Given the description of an element on the screen output the (x, y) to click on. 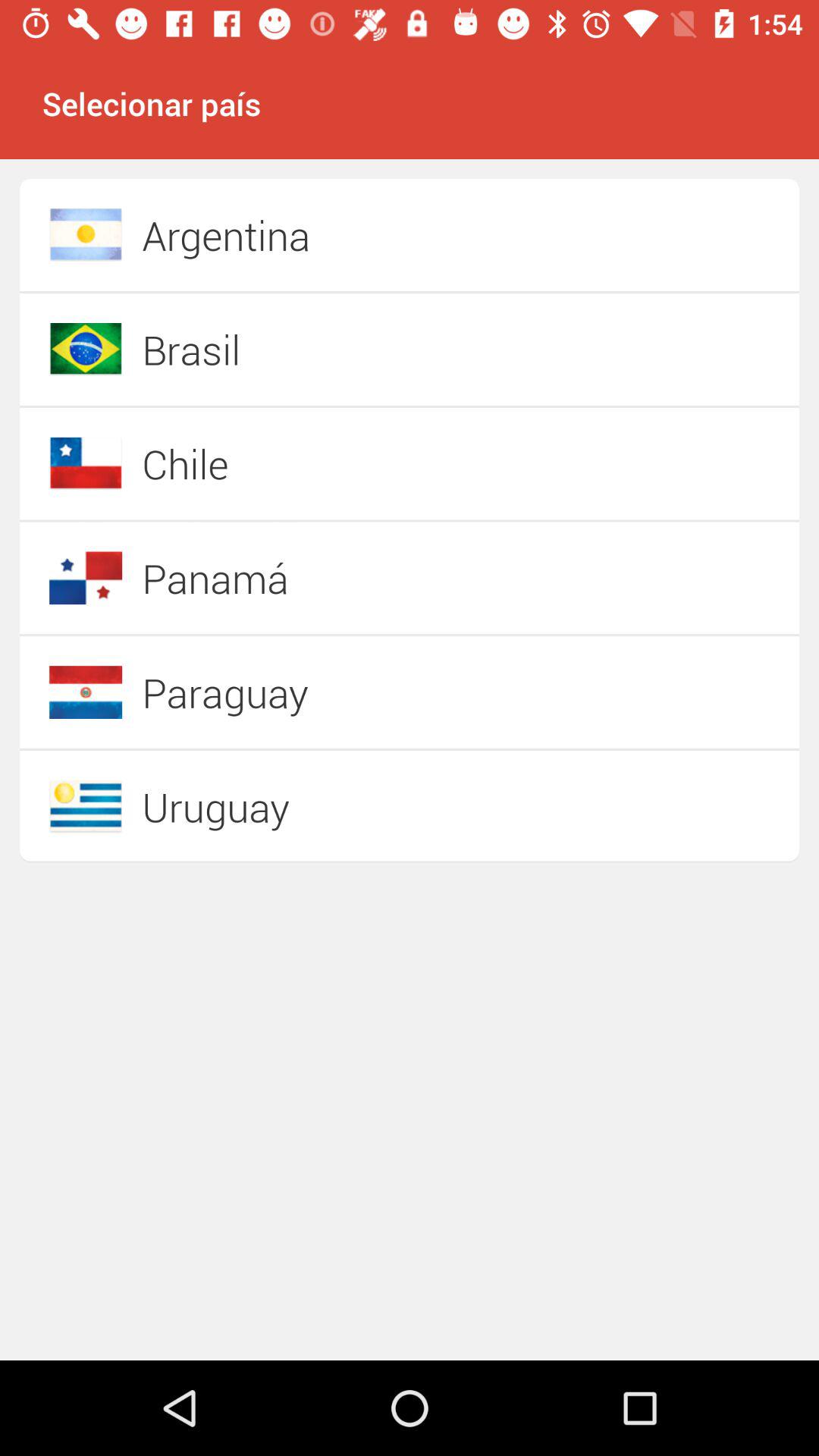
jump to the argentina item (356, 234)
